Given the description of an element on the screen output the (x, y) to click on. 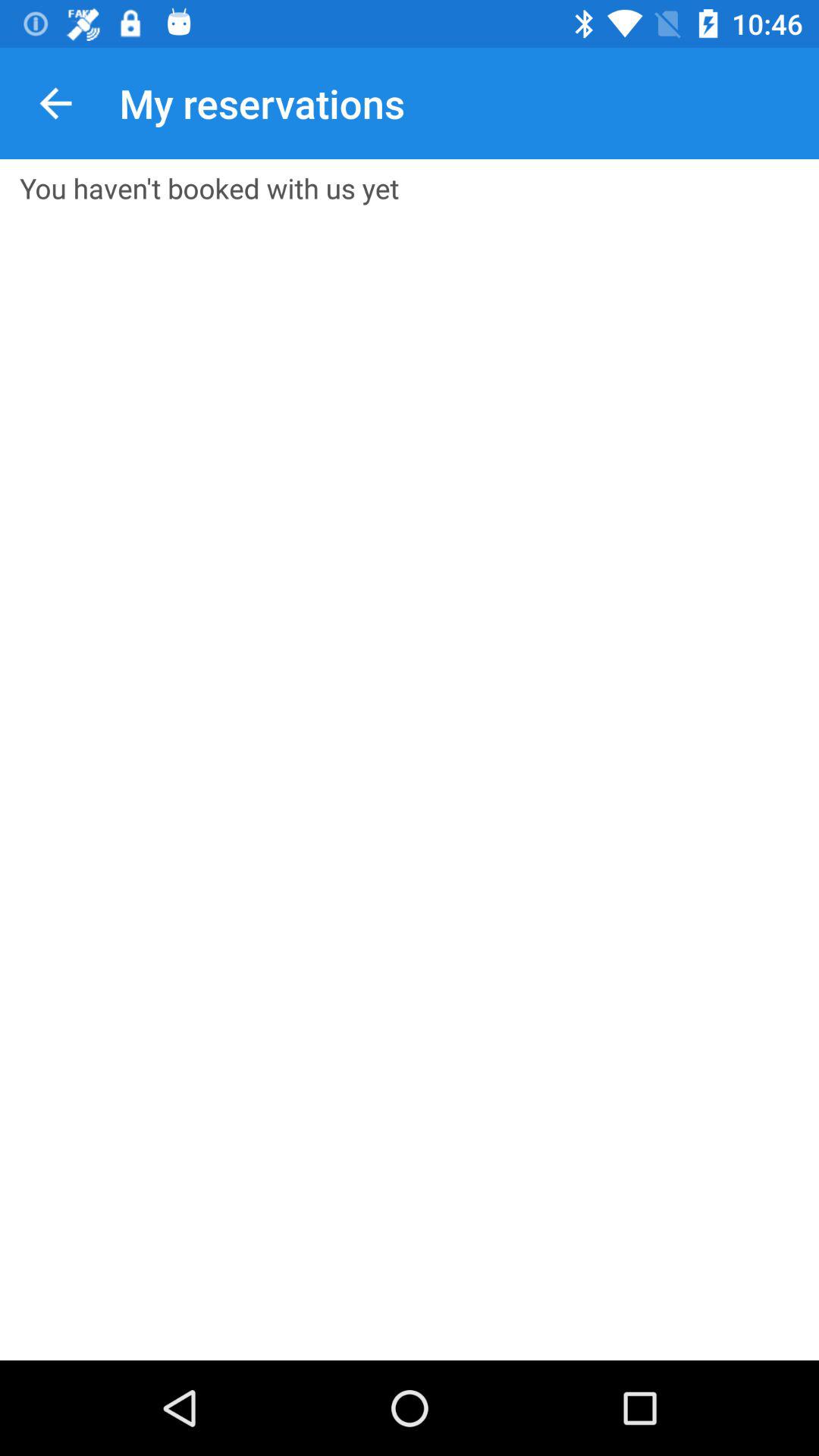
tap the icon to the left of my reservations icon (55, 103)
